Given the description of an element on the screen output the (x, y) to click on. 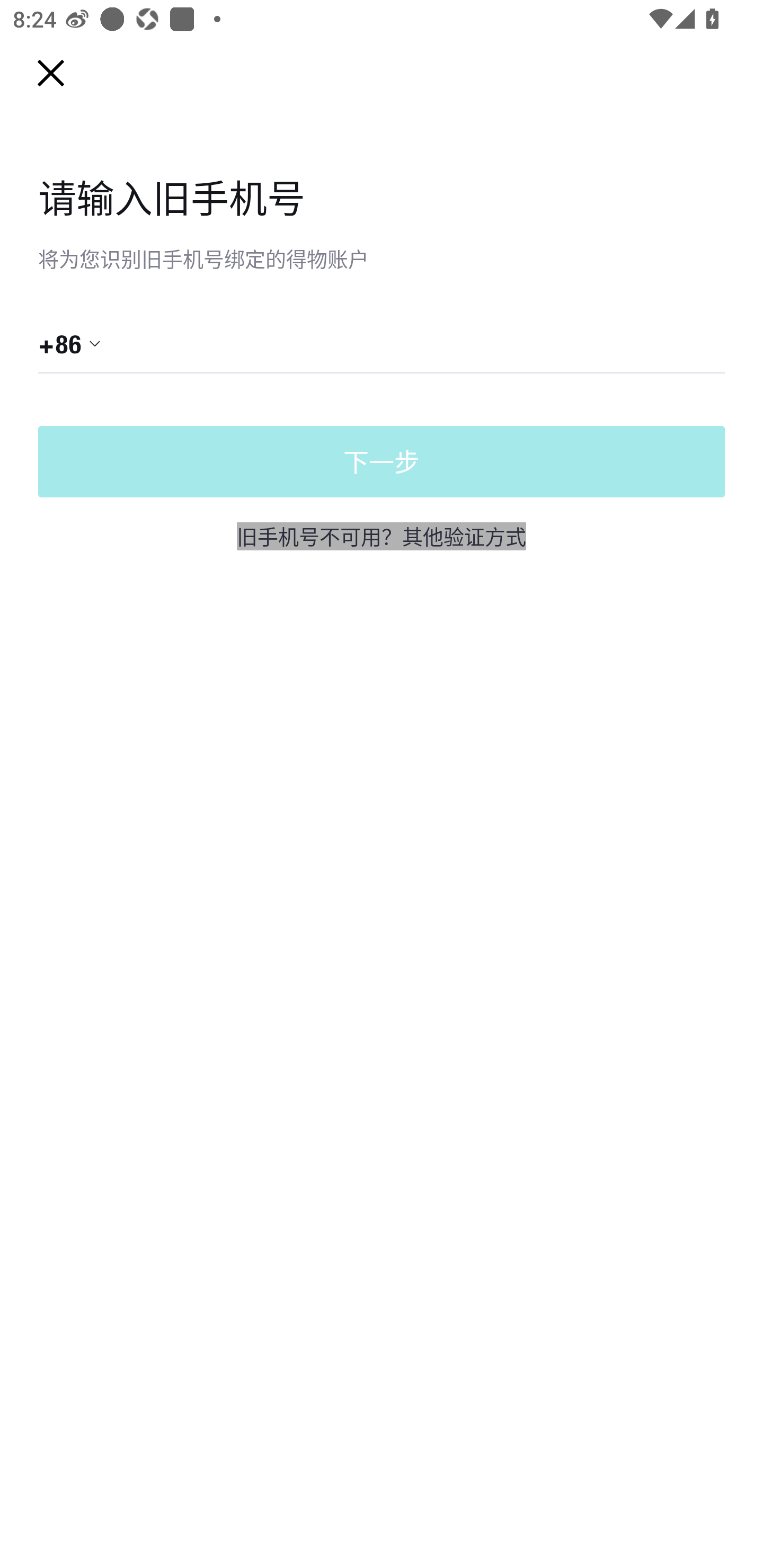
+86 (69, 343)
  (400, 343)
下一步 (381, 461)
旧手机号不可用？其他验证方式 (381, 536)
